Given the description of an element on the screen output the (x, y) to click on. 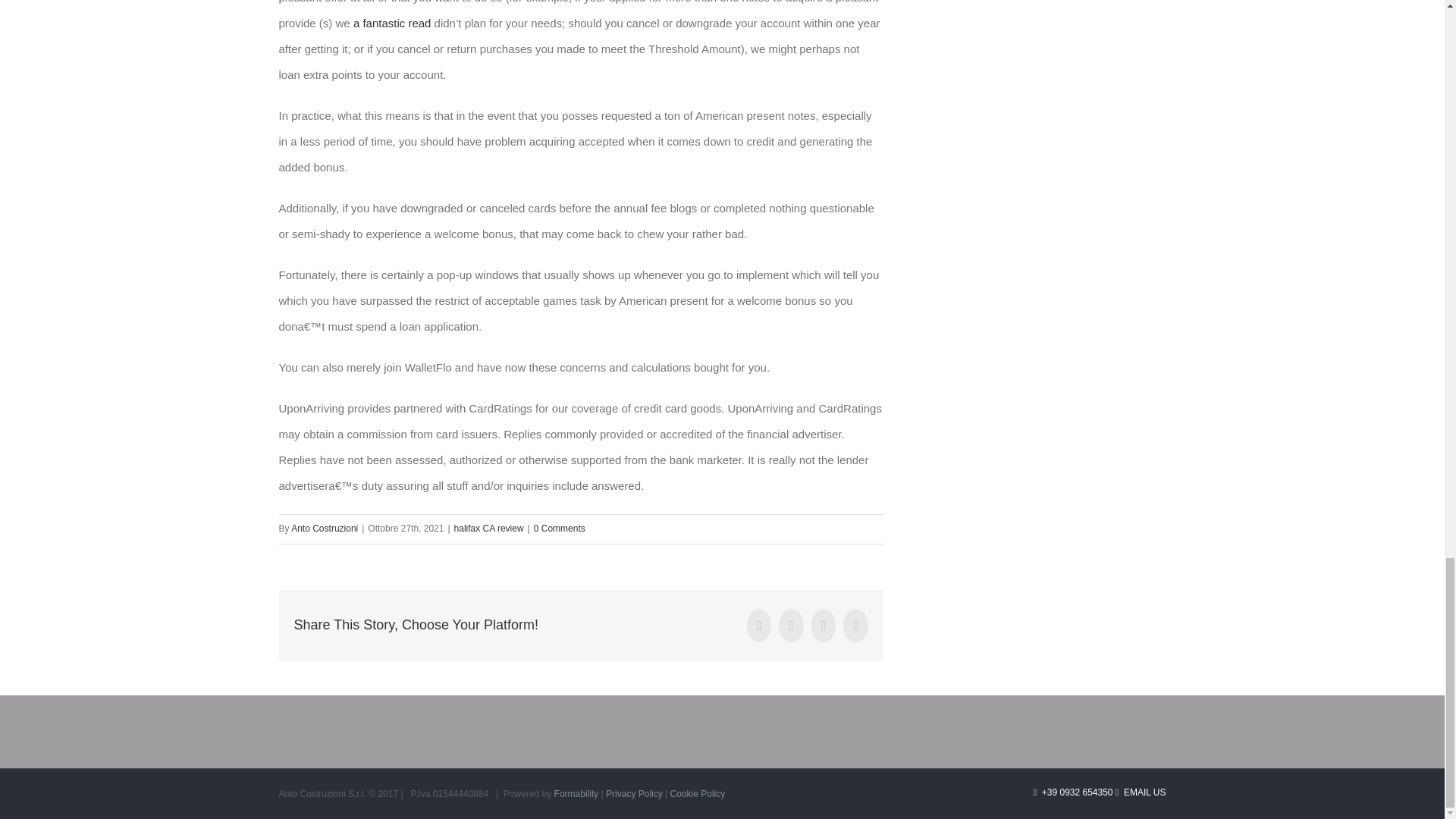
Formability (576, 793)
Cookie Policy (697, 793)
0 Comments (559, 528)
Privacy Policy (635, 793)
halifax CA review (489, 528)
  EMAIL US (1140, 792)
a fantastic read (391, 22)
Articoli scritti da Anto Costruzioni (324, 528)
Anto Costruzioni (324, 528)
